Given the description of an element on the screen output the (x, y) to click on. 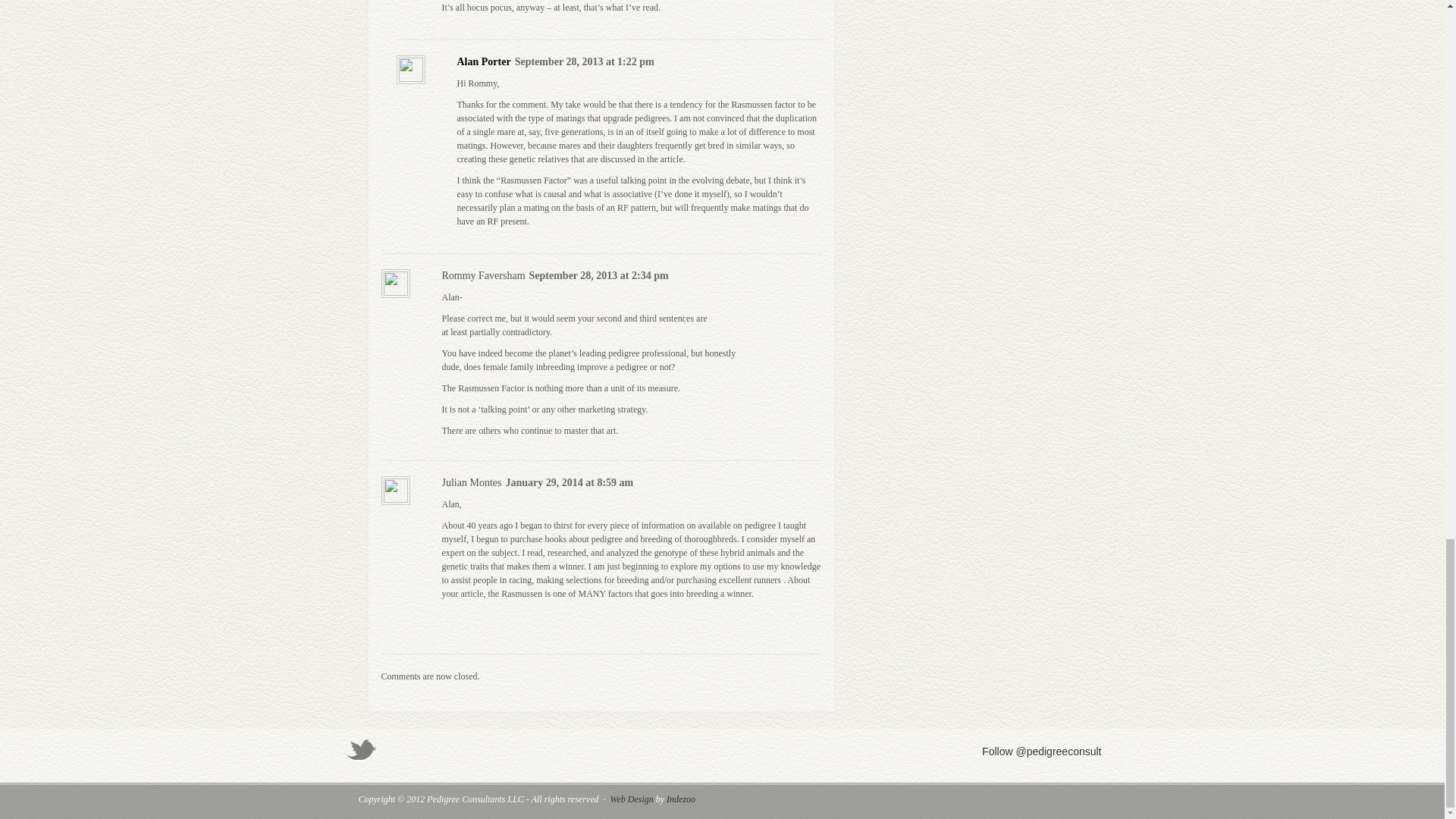
January 29, 2014 at 8:59 am (569, 482)
Web Design (631, 798)
Indezoo (680, 798)
Creative Web Design Agency (631, 798)
September 28, 2013 at 2:34 pm (598, 275)
Web Design Agency (680, 798)
September 28, 2013 at 1:22 pm (584, 61)
Alan Porter (484, 61)
